Given the description of an element on the screen output the (x, y) to click on. 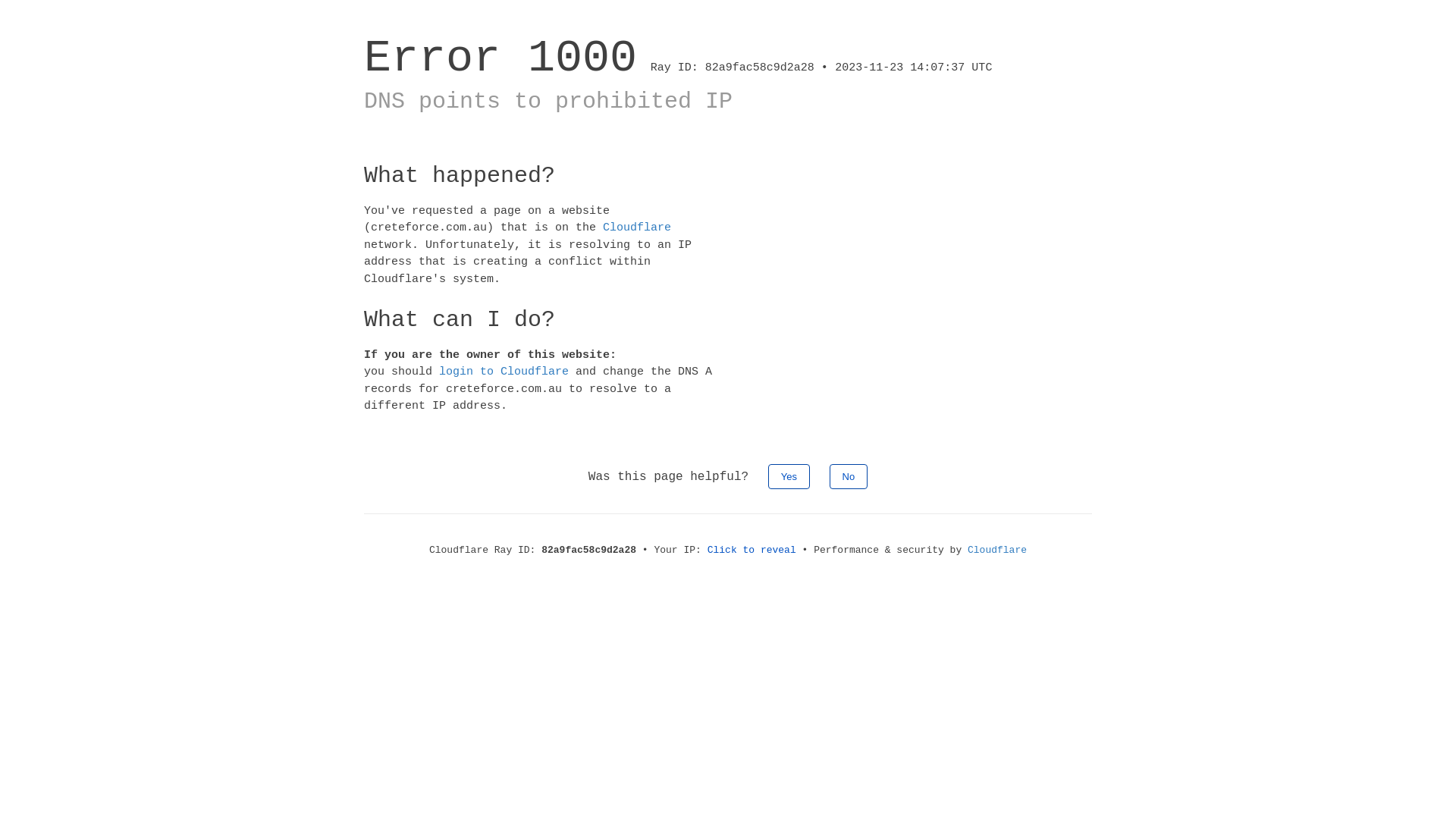
login to Cloudflare Element type: text (503, 371)
Yes Element type: text (788, 476)
Click to reveal Element type: text (751, 549)
No Element type: text (848, 476)
Cloudflare Element type: text (996, 549)
Cloudflare Element type: text (636, 227)
